Given the description of an element on the screen output the (x, y) to click on. 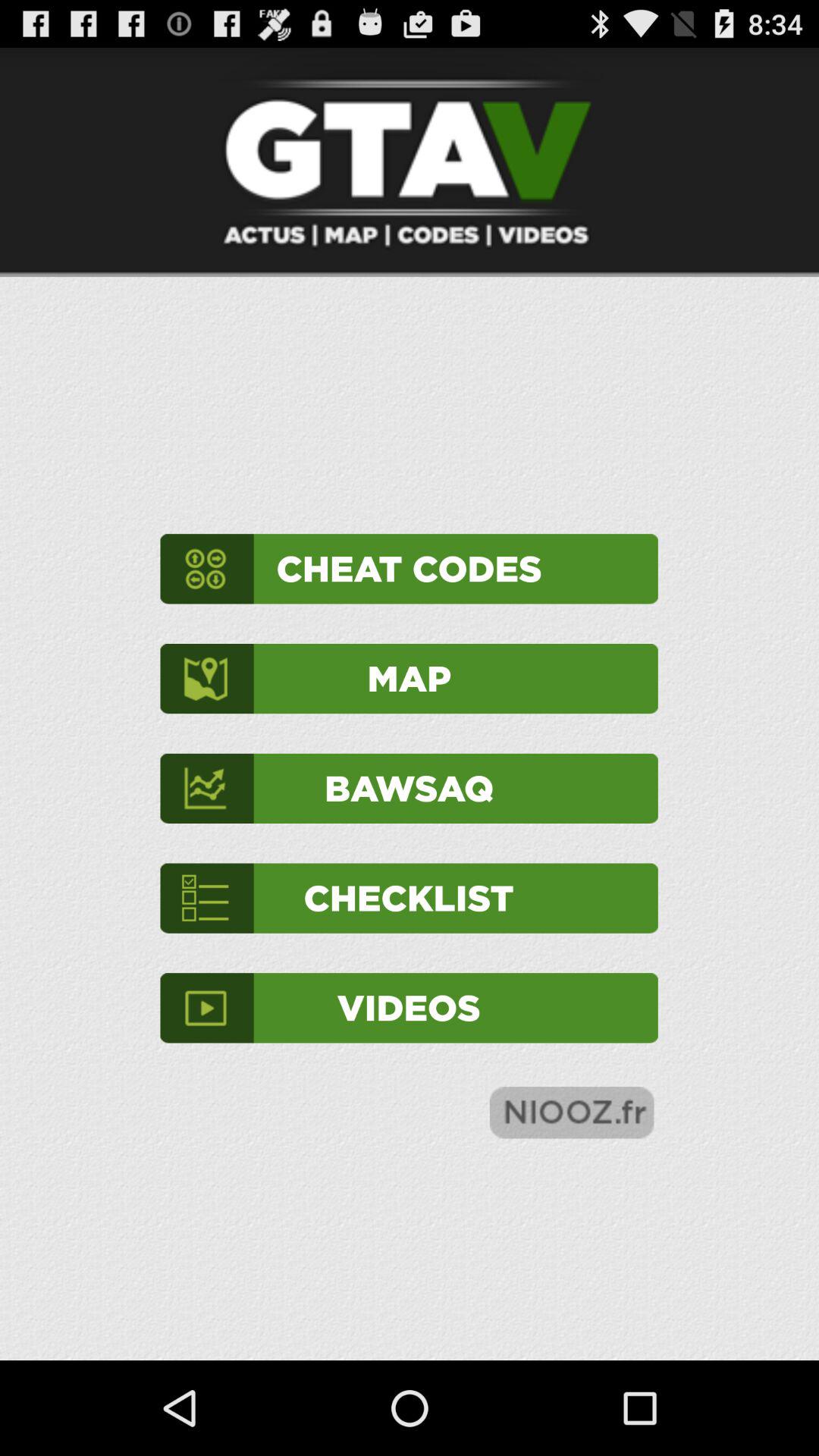
turn off the item at the bottom right corner (571, 1112)
